Given the description of an element on the screen output the (x, y) to click on. 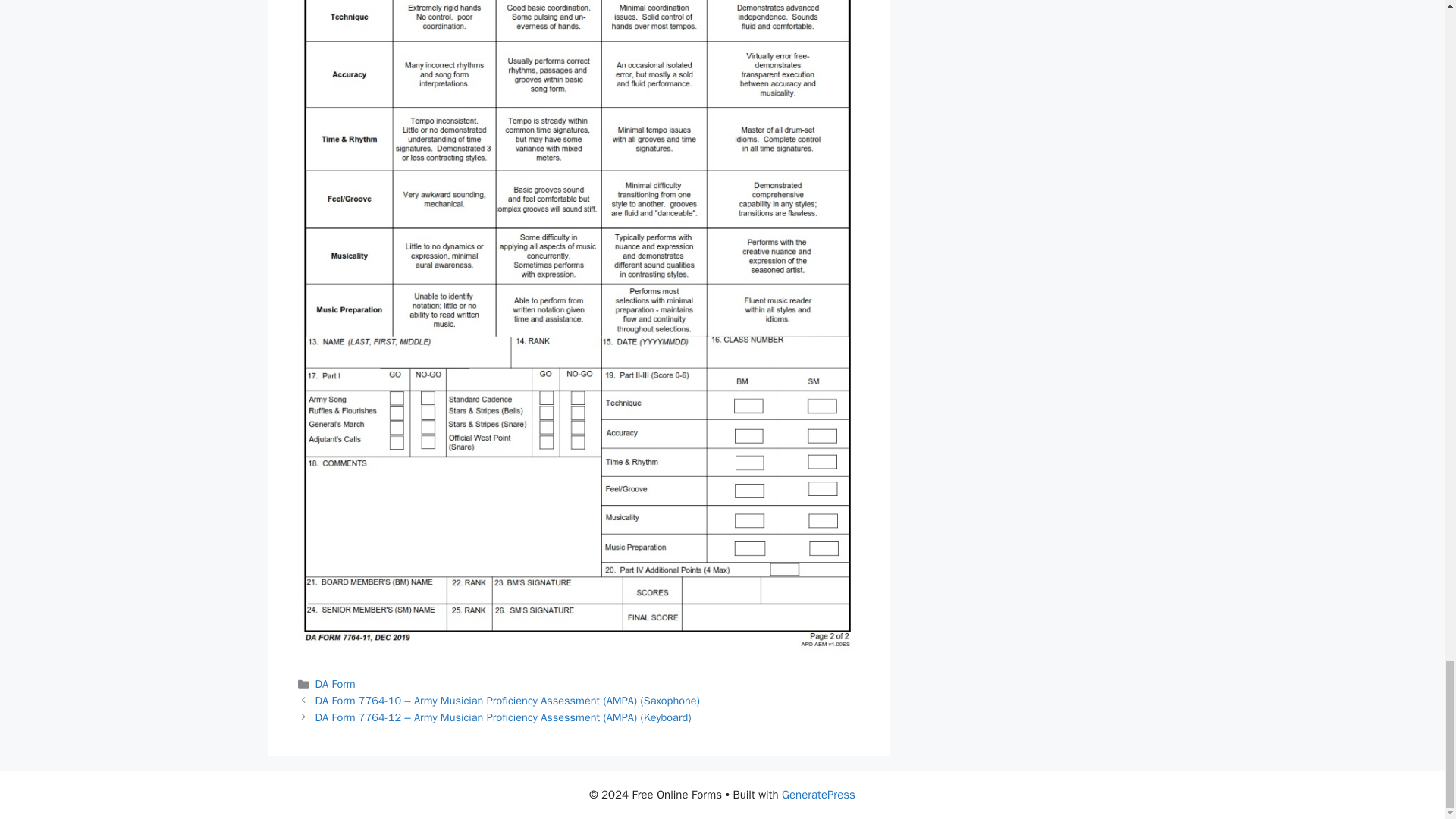
GeneratePress (818, 794)
DA Form (335, 684)
